Given the description of an element on the screen output the (x, y) to click on. 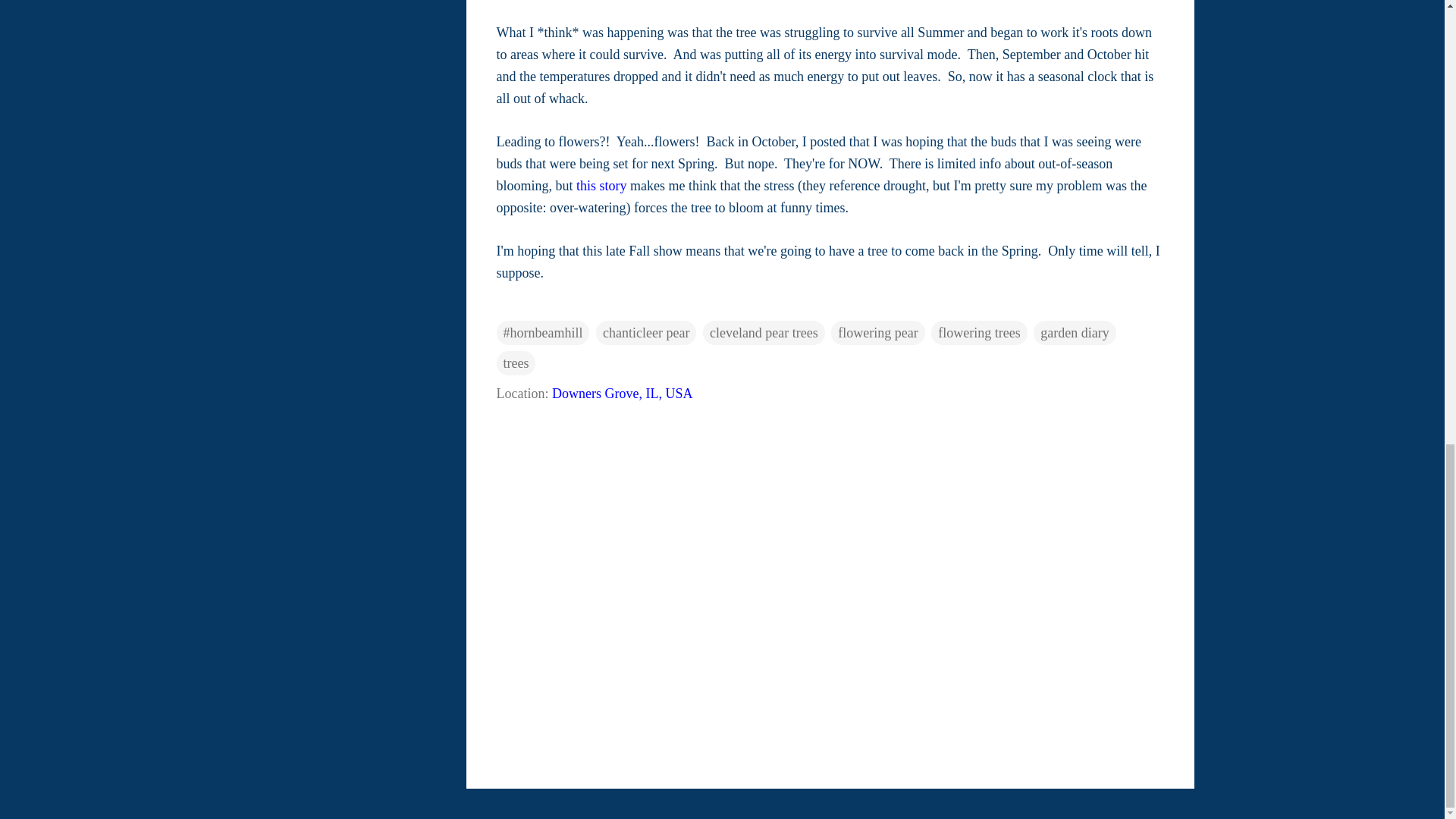
trees (515, 363)
garden diary (1074, 332)
flowering pear (877, 332)
flowering trees (978, 332)
Downers Grove, IL, USA (622, 393)
cleveland pear trees (764, 332)
chanticleer pear (645, 332)
this story (601, 185)
